Given the description of an element on the screen output the (x, y) to click on. 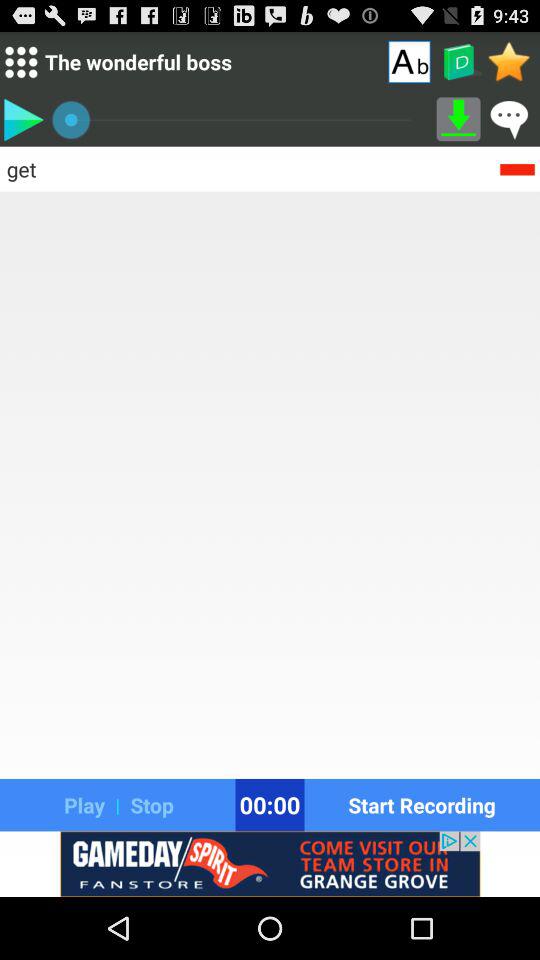
banner advertisement (270, 864)
